Given the description of an element on the screen output the (x, y) to click on. 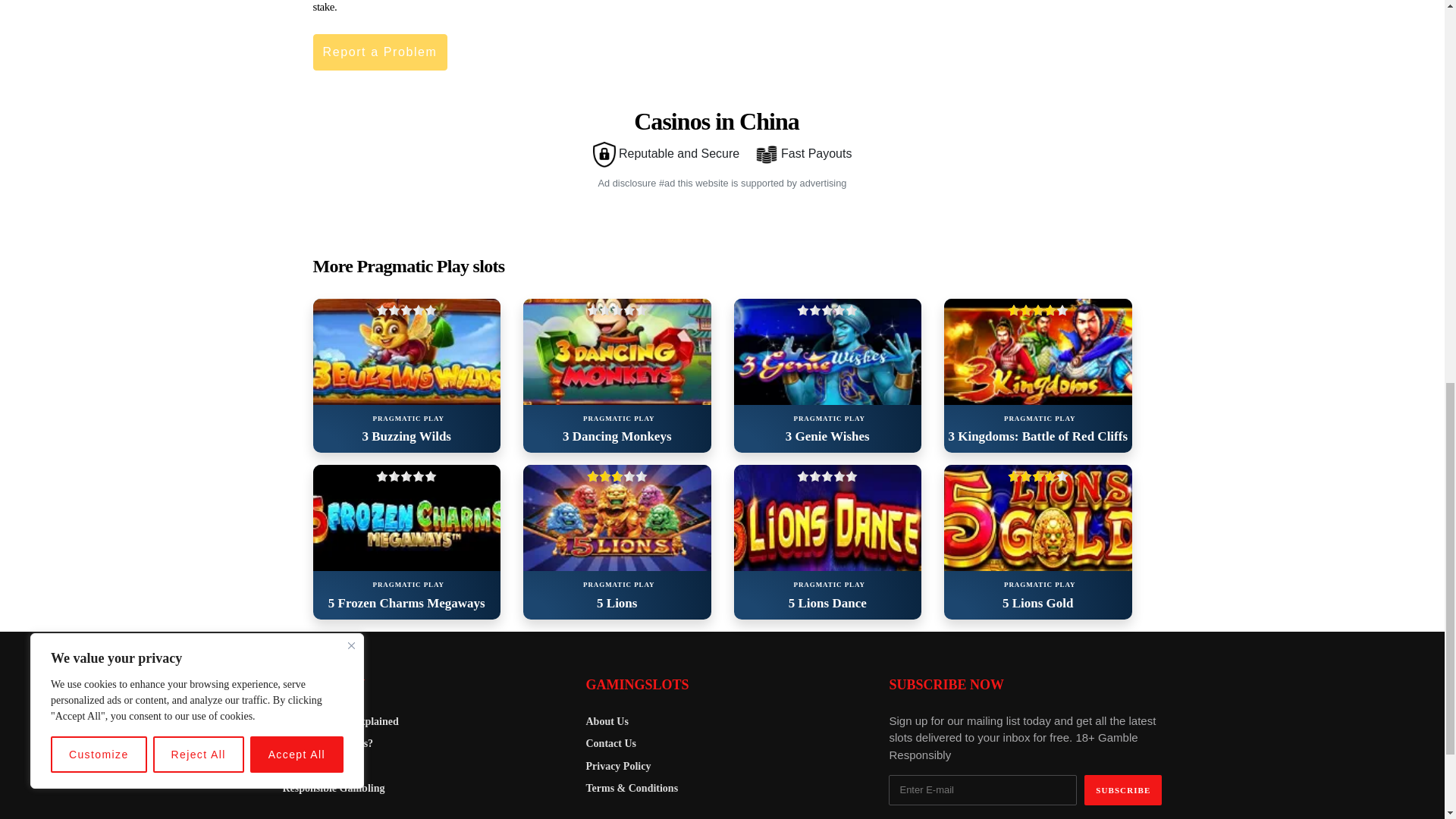
3 Buzzing Wilds slot (406, 351)
3 Dancing Monkeys slot (616, 351)
Subscribe (1122, 789)
3 Kingdoms: Battle of Red Cliffs slot (1037, 351)
3 Genie Wishes slot (827, 351)
Report a Problem (379, 52)
